Given the description of an element on the screen output the (x, y) to click on. 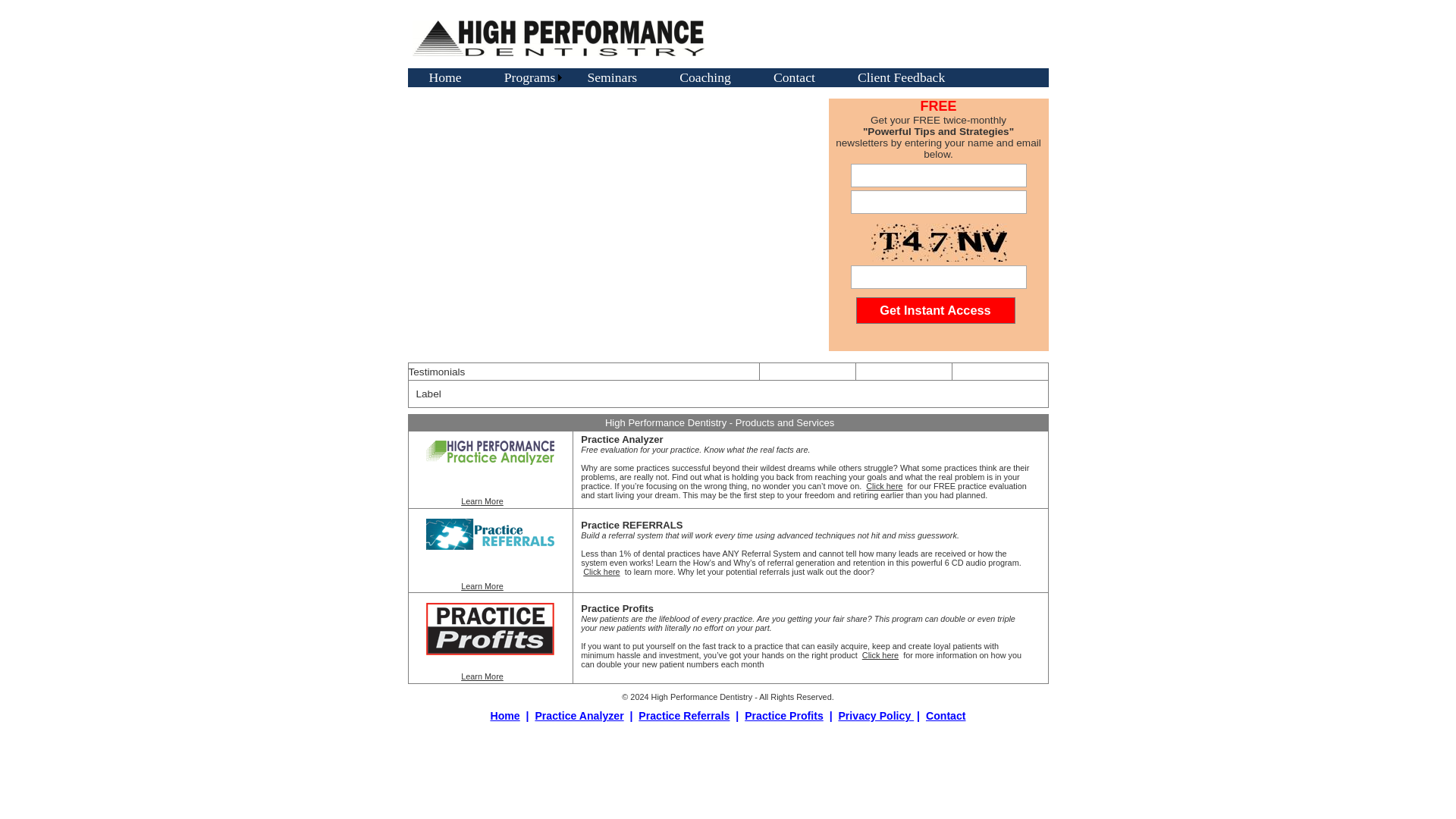
Click here (883, 485)
Learn More (481, 501)
Home (445, 76)
Learn More (481, 675)
Client Feedback (900, 76)
Programs (524, 76)
Get Instant Access (935, 310)
Learn More (481, 585)
Click here (600, 571)
Seminars (612, 76)
